Given the description of an element on the screen output the (x, y) to click on. 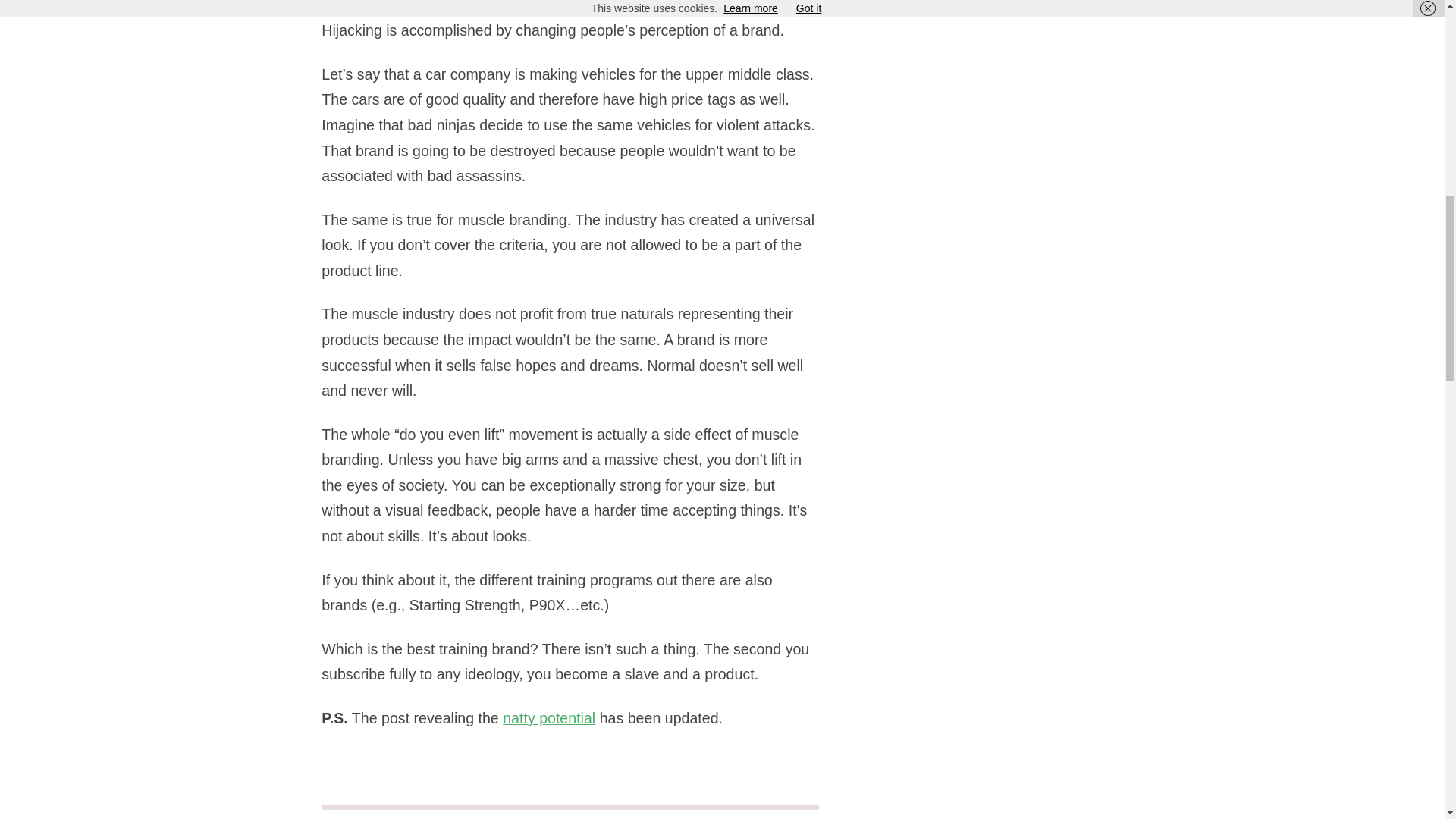
natty potential (548, 718)
